Given the description of an element on the screen output the (x, y) to click on. 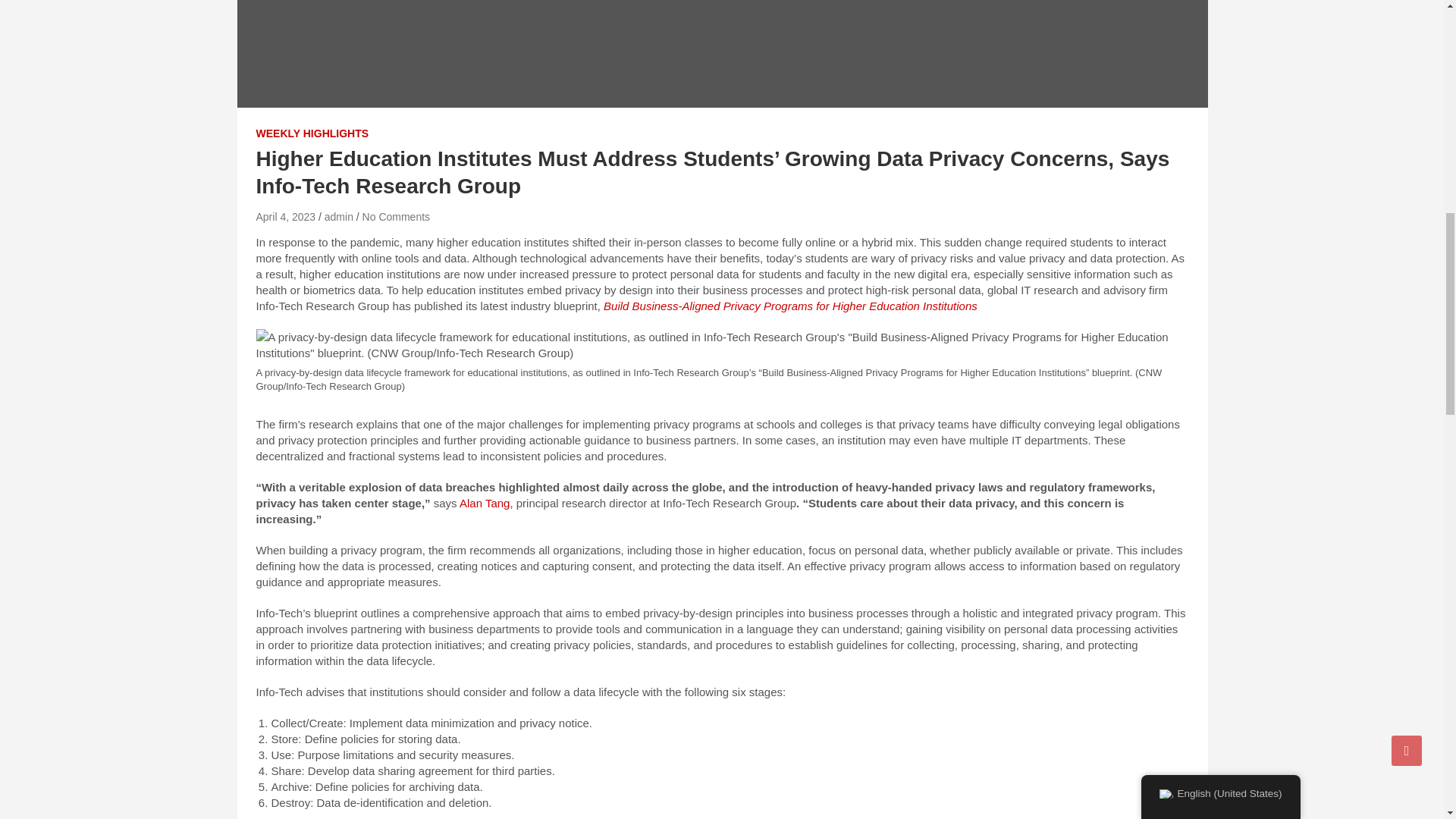
No Comments (395, 216)
April 4, 2023 (285, 216)
admin (338, 216)
WEEKLY HIGHLIGHTS (312, 133)
